Given the description of an element on the screen output the (x, y) to click on. 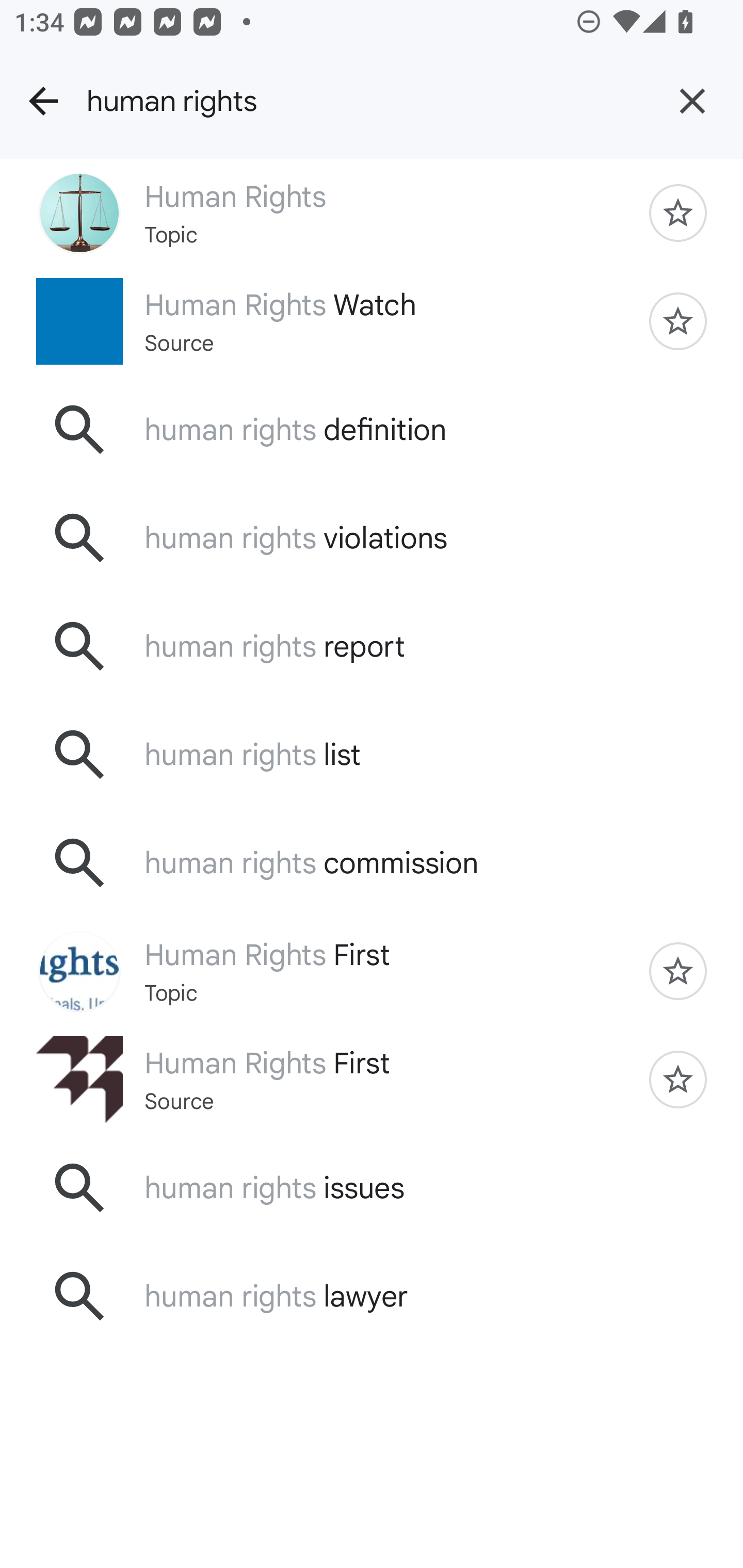
Back (43, 101)
human rights (363, 101)
Clear text (692, 101)
Human Rights Topic Follow (371, 212)
Follow (677, 212)
Human Rights Watch Source Follow (371, 320)
Follow (677, 321)
human rights definition (371, 429)
human rights violations (371, 538)
human rights report (371, 646)
human rights list (371, 754)
human rights commission (371, 863)
Human Rights First Topic Follow (371, 971)
Follow (677, 971)
Human Rights First Source Follow (371, 1079)
Follow (677, 1079)
human rights issues (371, 1187)
human rights lawyer (371, 1295)
